Given the description of an element on the screen output the (x, y) to click on. 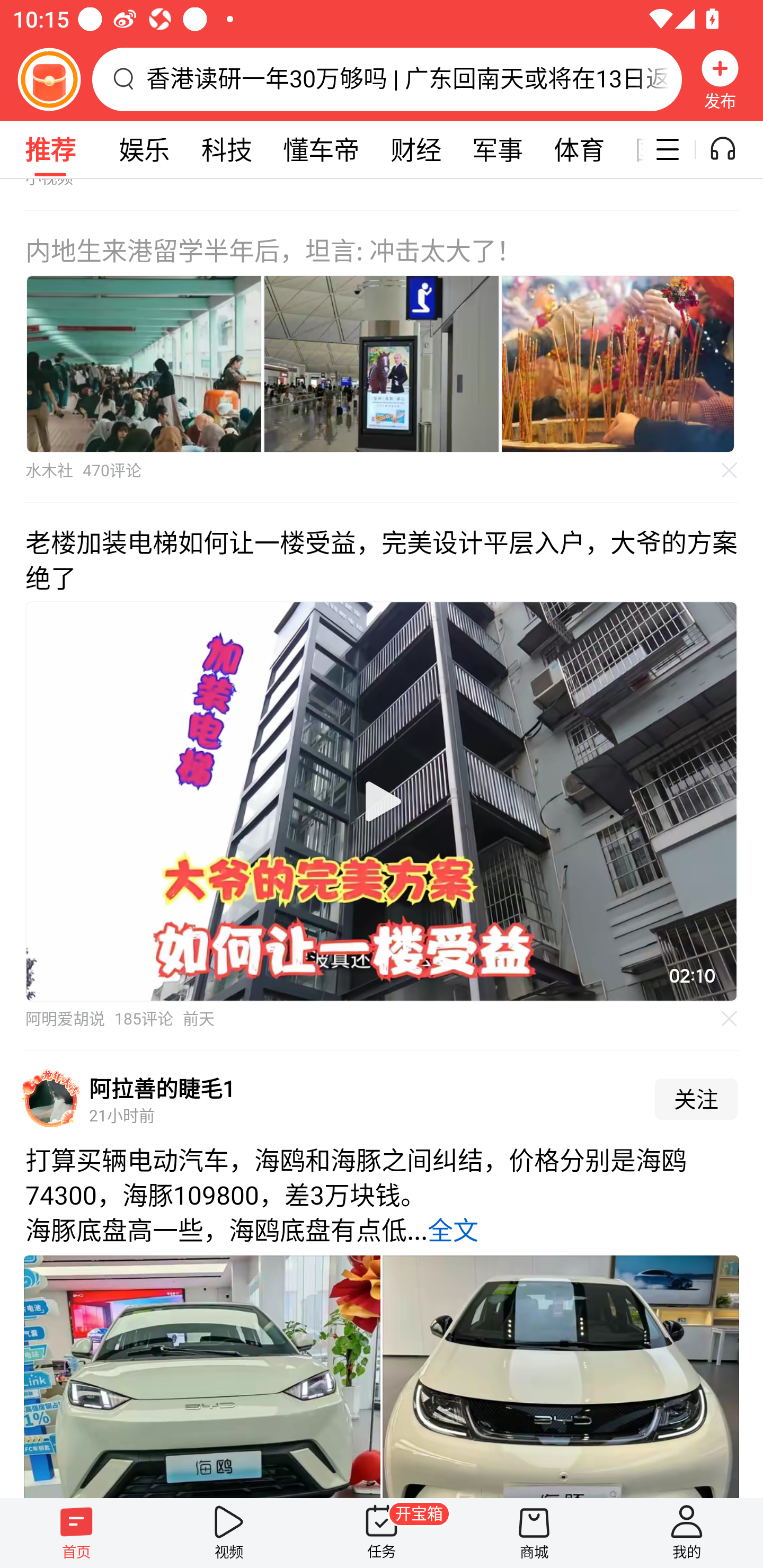
阅读赚金币 (48, 79)
发布 发布，按钮 (720, 78)
推荐 (49, 149)
娱乐 (144, 149)
科技 (226, 149)
懂车帝 (320, 149)
财经 (415, 149)
军事 (497, 149)
体育 (578, 149)
听一听开关 (732, 149)
内容图片 (143, 363)
内容图片 (381, 363)
内容图片 (617, 363)
不感兴趣 (729, 470)
播放视频 视频播放器，双击屏幕打开播放控制 (381, 800)
播放视频 (381, 800)
不感兴趣 (729, 1019)
阿拉善的睫毛1 (162, 1087)
阿拉善的睫毛1头像 (50, 1099)
关注 (695, 1098)
首页 (76, 1532)
视频 (228, 1532)
任务 开宝箱 (381, 1532)
商城 (533, 1532)
我的 (686, 1532)
